Given the description of an element on the screen output the (x, y) to click on. 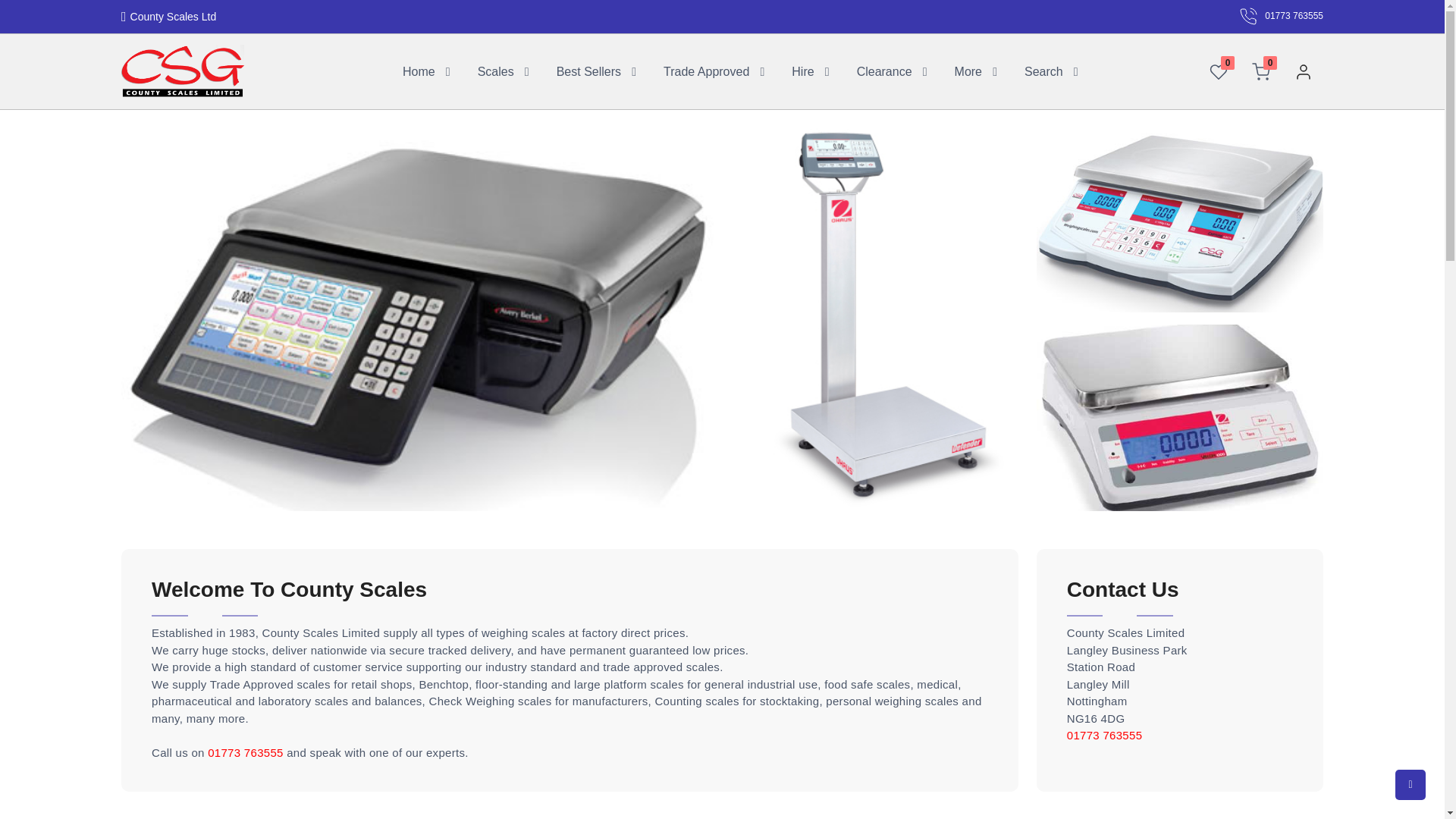
Trade Approved (706, 71)
Hire (802, 71)
Best Sellers (588, 71)
Search (1042, 71)
0 (1218, 72)
0 (1260, 72)
Clearance (883, 71)
More (967, 71)
Home (418, 71)
Scales (494, 71)
   01773 763555 (1281, 16)
